Given the description of an element on the screen output the (x, y) to click on. 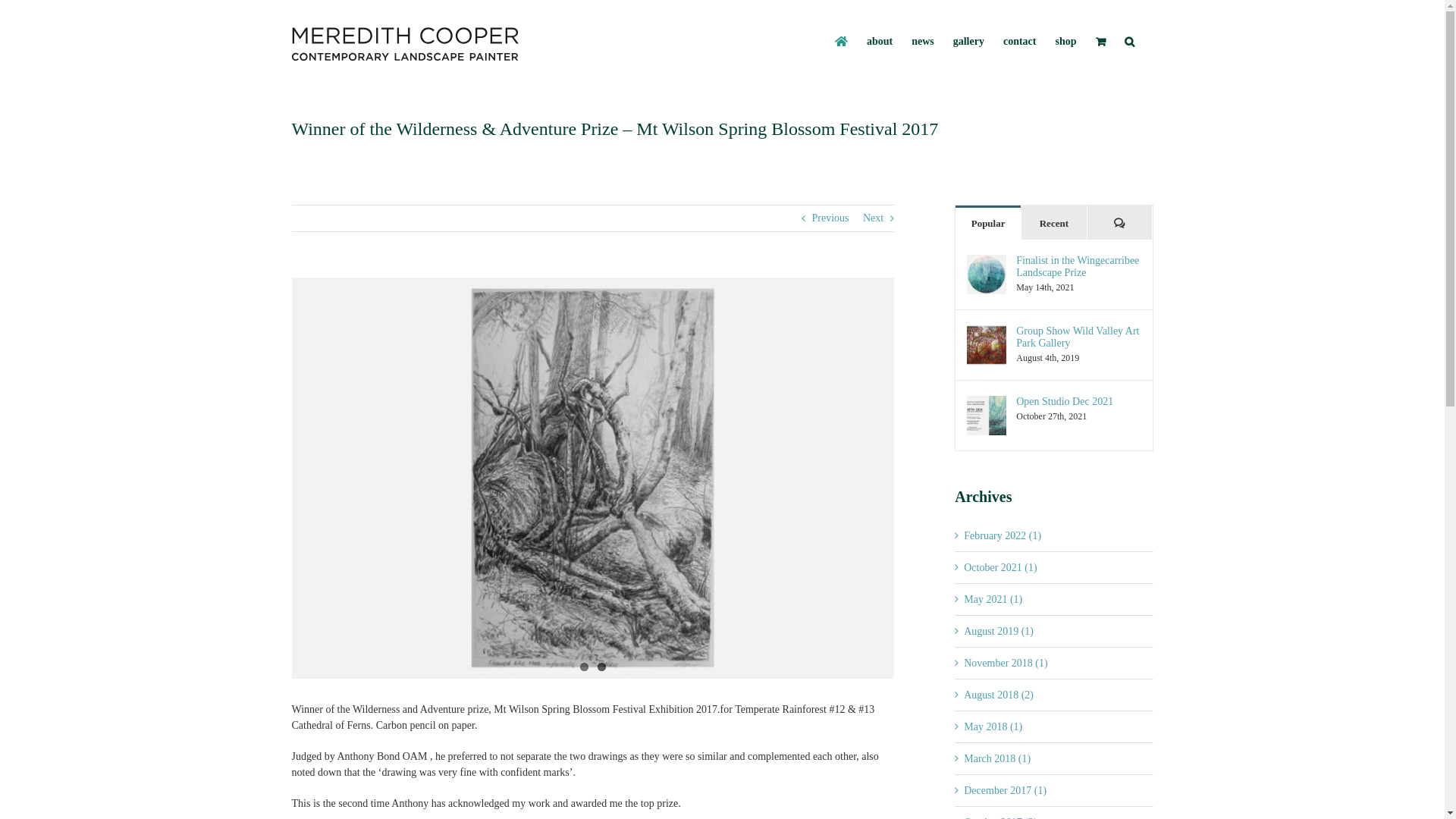
View Larger Image Element type: text (592, 477)
gallery Element type: text (968, 41)
Popular Element type: text (987, 222)
news Element type: text (922, 41)
May 2018 (1) Element type: text (992, 726)
Open Studio Dec 2021 Element type: text (1078, 401)
Search Element type: hover (1128, 41)
August 2018 (2) Element type: text (998, 694)
Finalist in the Wingecarribee Landscape Prize Element type: text (1078, 266)
October 2021 (1) Element type: text (999, 567)
Comments Element type: text (1119, 222)
Recent Element type: text (1053, 222)
shop Element type: text (1065, 41)
2 Element type: text (601, 666)
November 2018 (1) Element type: text (1005, 662)
August 2019 (1) Element type: text (998, 631)
March 2018 (1) Element type: text (996, 758)
1 Element type: text (584, 666)
contact Element type: text (1019, 41)
Previous Element type: text (829, 218)
December 2017 (1) Element type: text (1004, 790)
Next Element type: text (872, 218)
about Element type: text (879, 41)
February 2022 (1) Element type: text (1002, 535)
Group Show Wild Valley Art Park Gallery Element type: text (1078, 336)
May 2021 (1) Element type: text (992, 599)
